Given the description of an element on the screen output the (x, y) to click on. 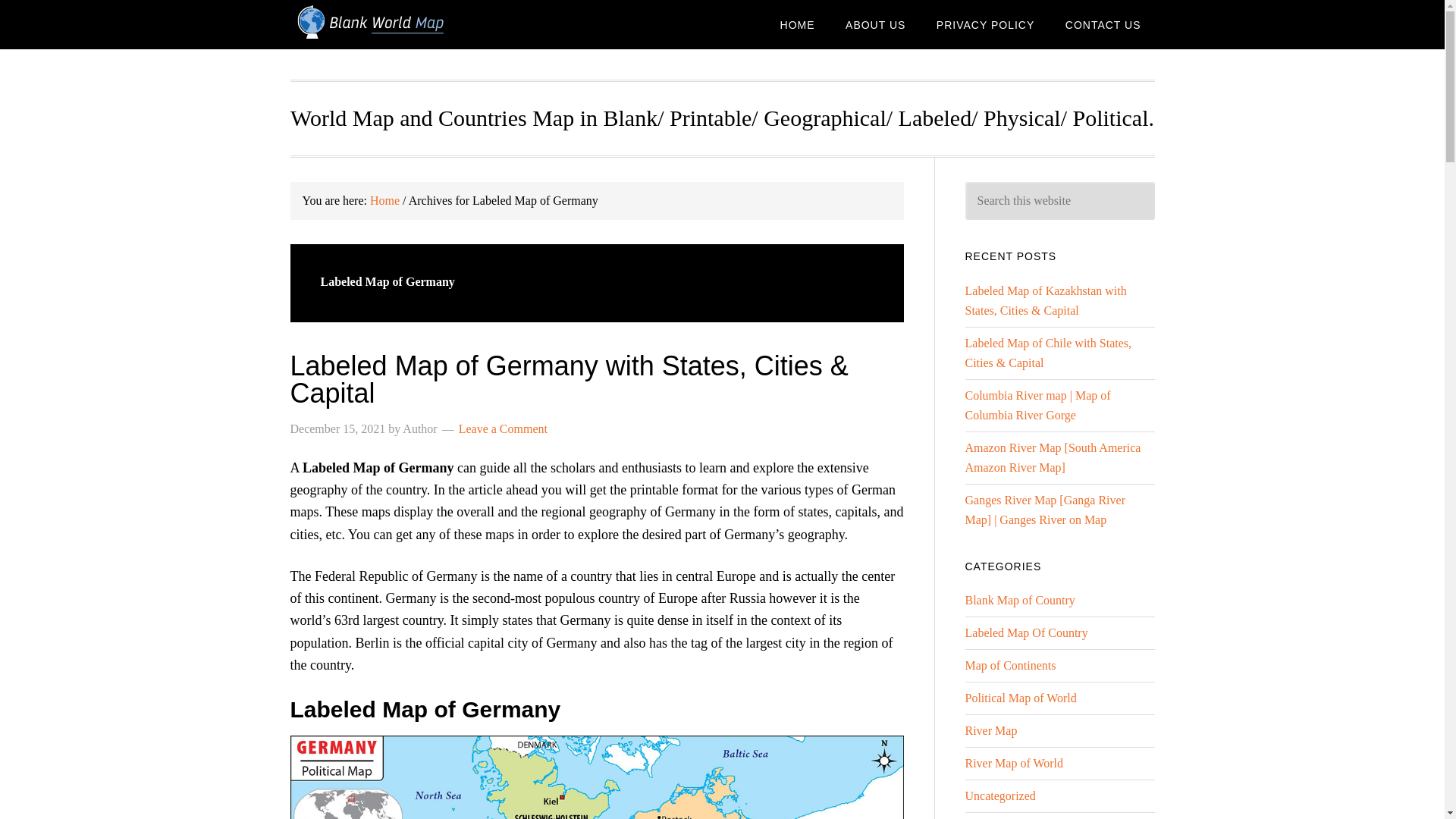
Uncategorized (999, 795)
BLANK WORLD MAP (410, 24)
Political Map of World (1019, 697)
Blank Map of Country (1018, 599)
Labeled Map Of Country (1025, 632)
Leave a Comment (502, 428)
CONTACT US (1102, 24)
PRIVACY POLICY (985, 24)
River Map of World (1012, 762)
ABOUT US (874, 24)
HOME (797, 24)
River Map (989, 730)
